Given the description of an element on the screen output the (x, y) to click on. 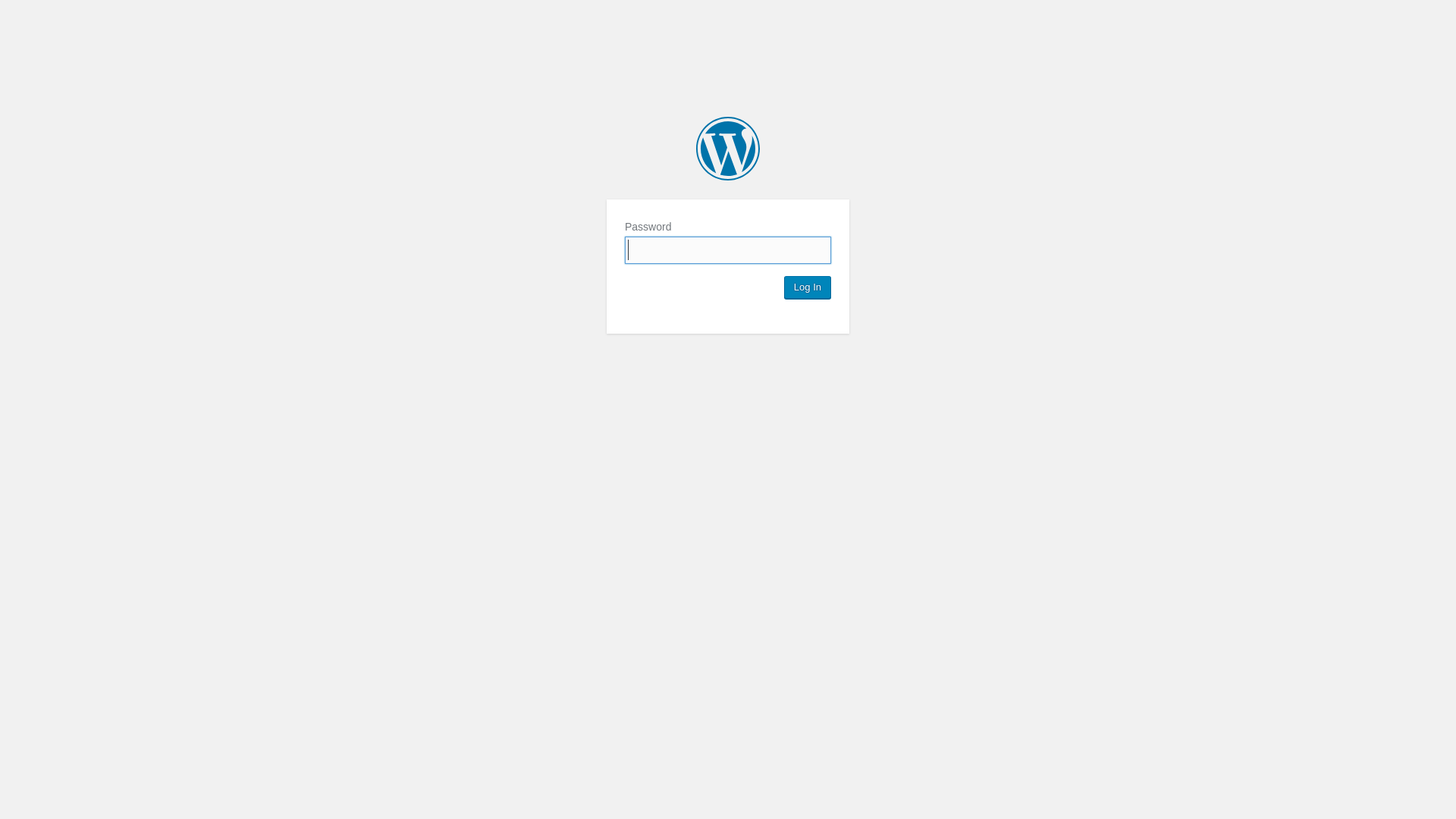
Log In Element type: text (807, 287)
